Given the description of an element on the screen output the (x, y) to click on. 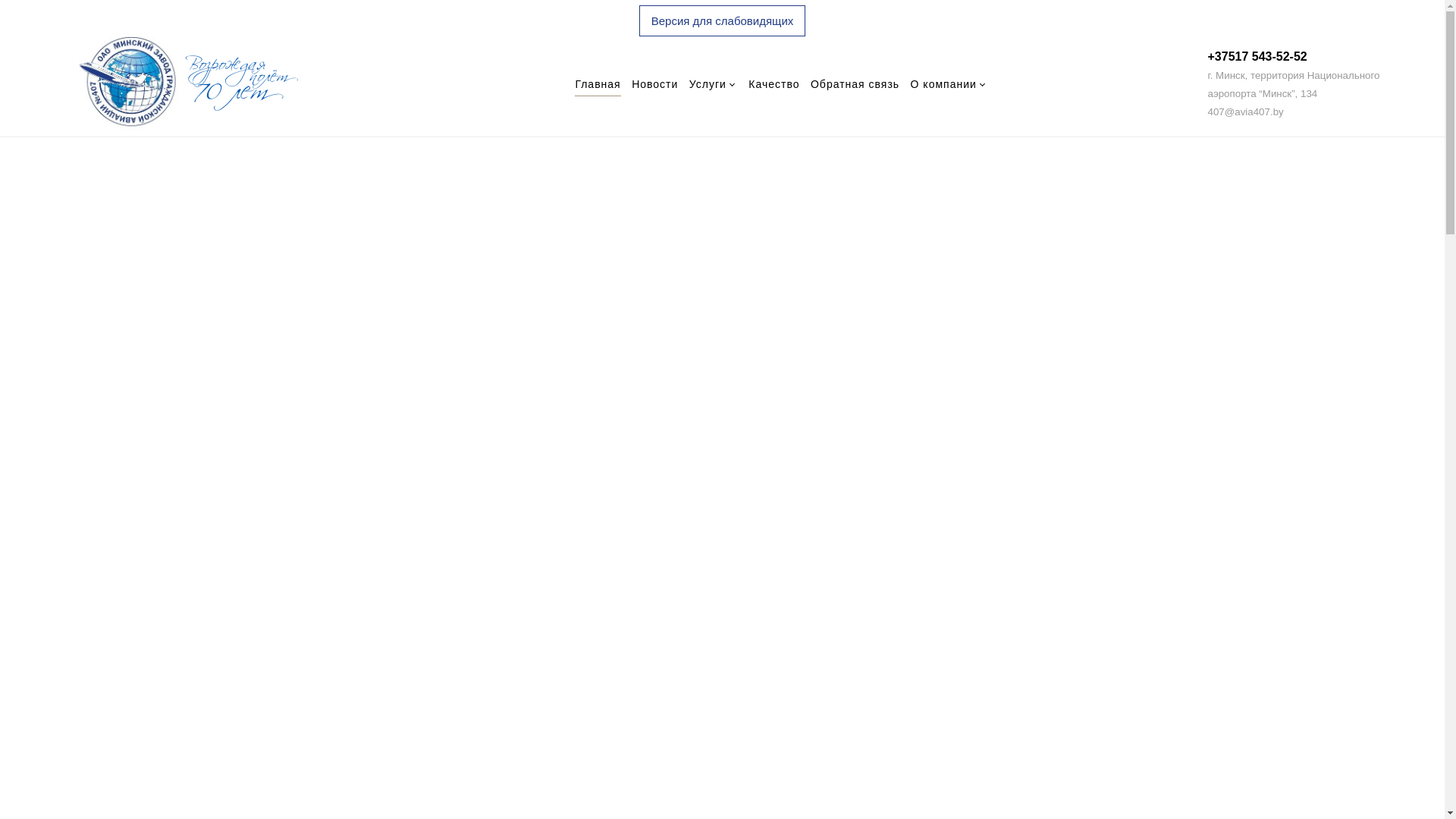
+37517 543-52-52 Element type: text (1256, 56)
407@avia407.by Element type: text (1245, 110)
